Given the description of an element on the screen output the (x, y) to click on. 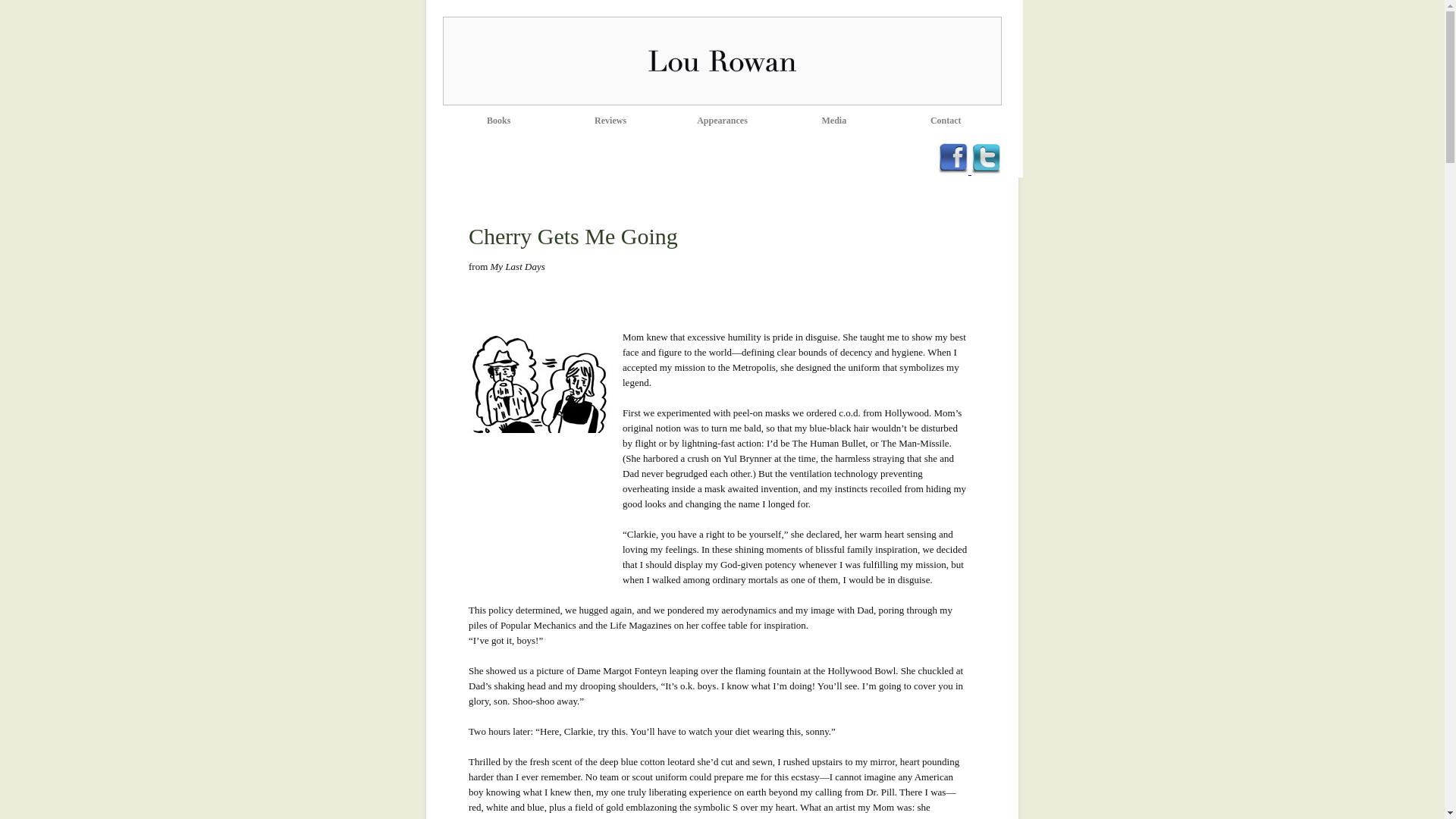
Media (834, 120)
Appearances (722, 120)
Books (498, 120)
Reviews (610, 120)
Contact (945, 120)
